Given the description of an element on the screen output the (x, y) to click on. 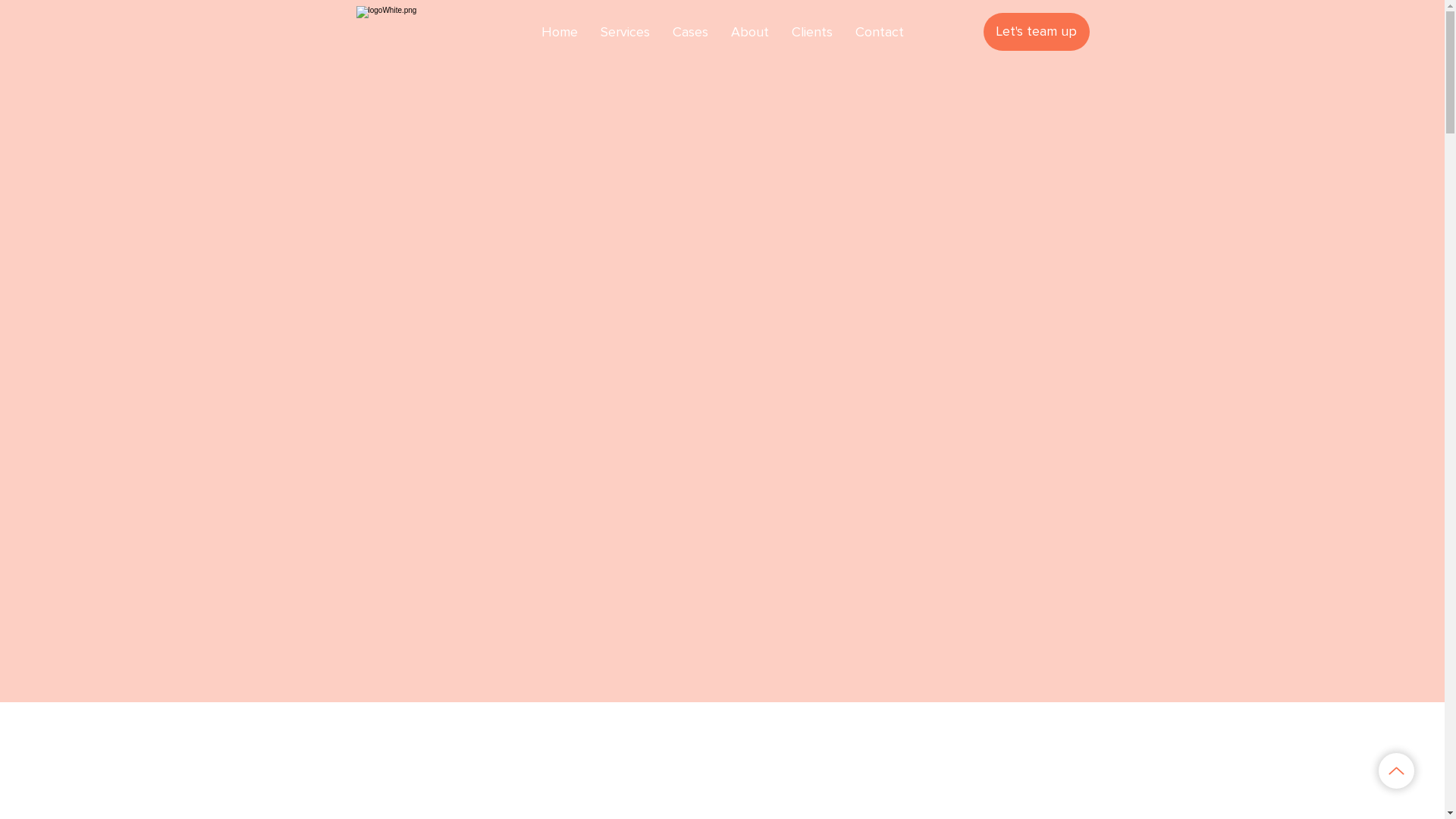
Clients Element type: text (811, 31)
Let's team up Element type: text (1035, 31)
Home Element type: text (558, 31)
Services Element type: text (624, 31)
Cases Element type: text (690, 31)
Contact Element type: text (878, 31)
About Element type: text (748, 31)
